Given the description of an element on the screen output the (x, y) to click on. 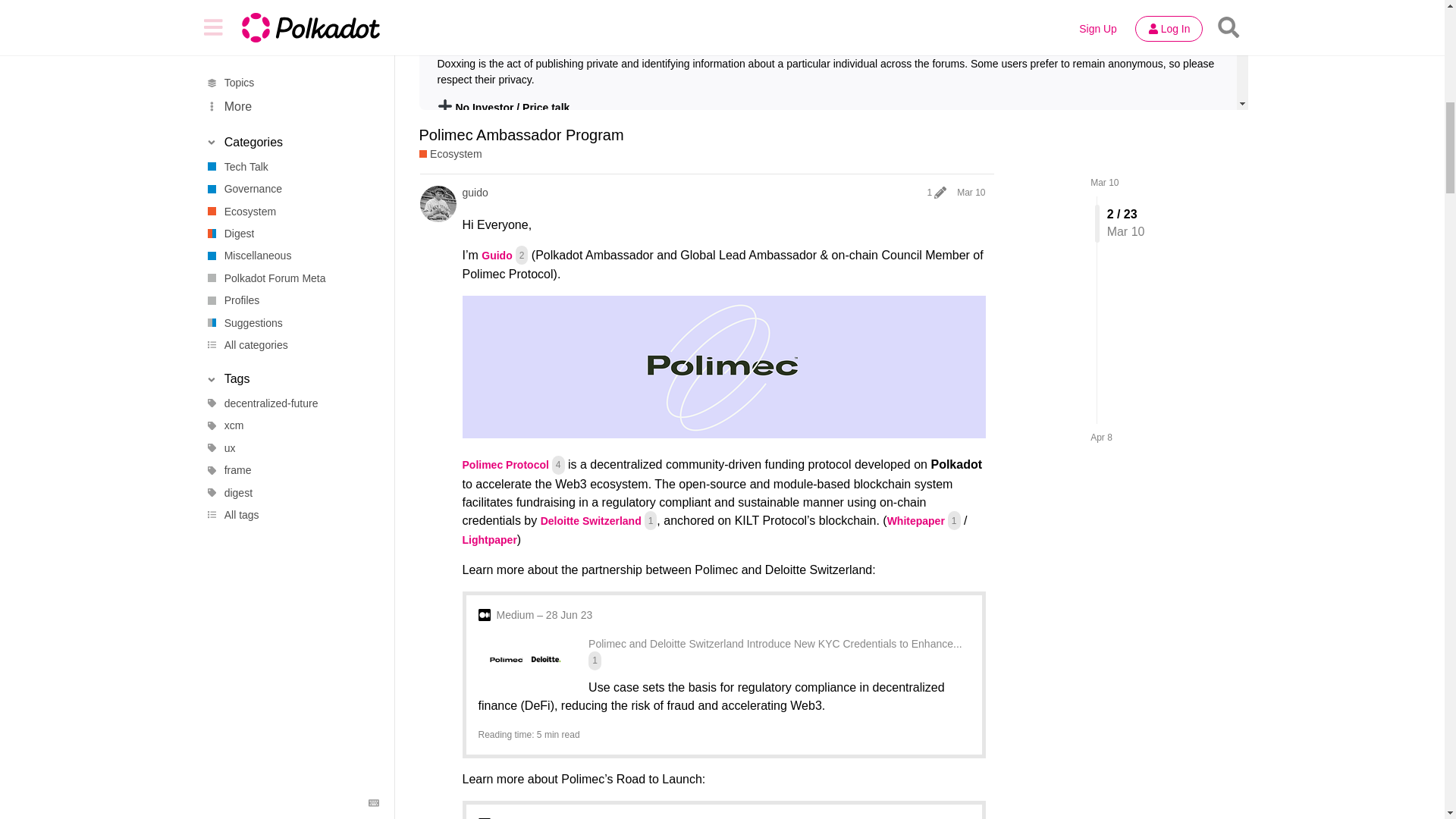
Polimec Ambassador Program (521, 134)
